Given the description of an element on the screen output the (x, y) to click on. 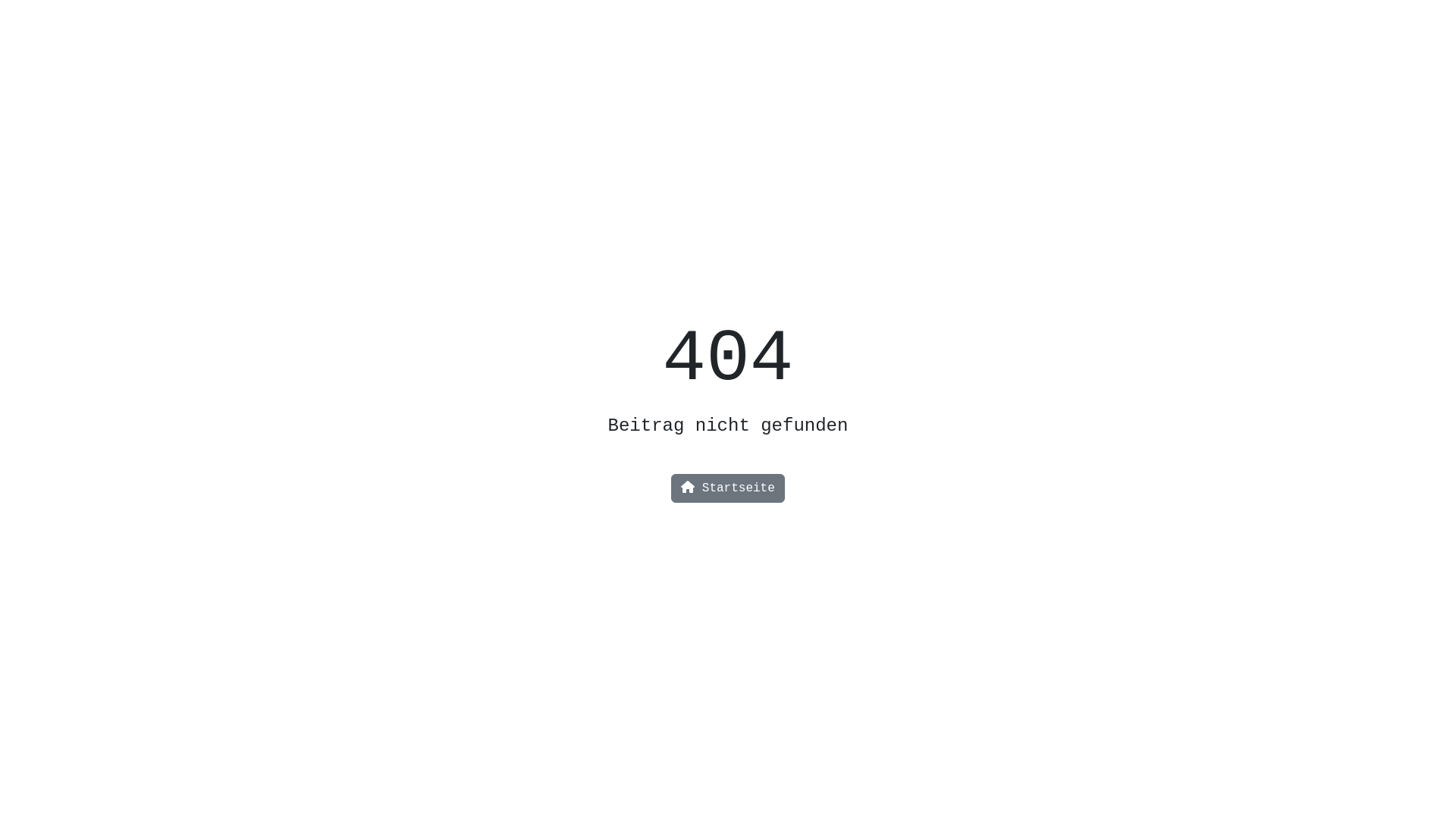
Startseite Element type: text (727, 487)
